Given the description of an element on the screen output the (x, y) to click on. 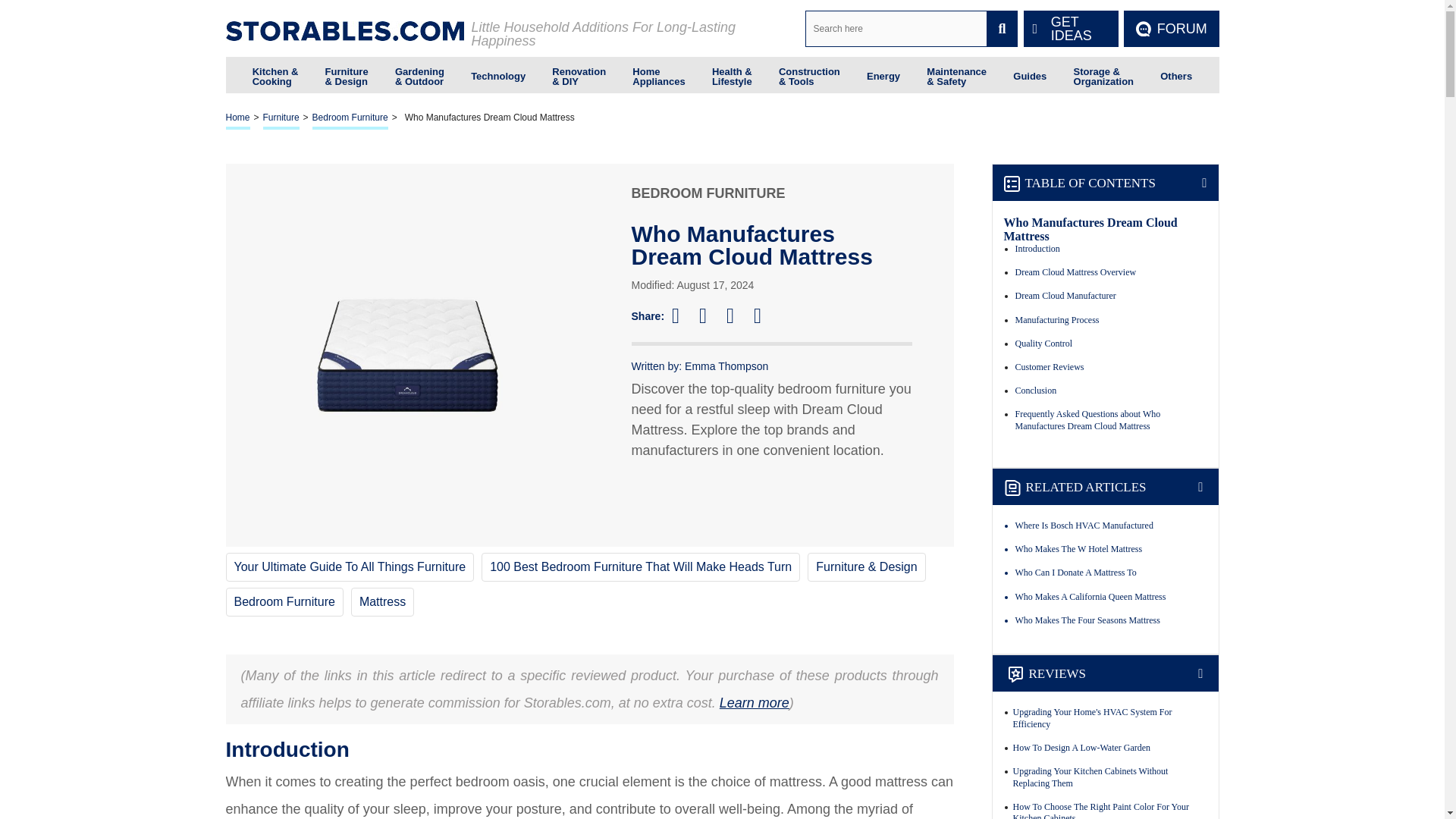
Technology (497, 74)
Share on Twitter (709, 315)
FORUM (1171, 28)
GET IDEAS (1070, 28)
Share on Facebook (682, 315)
Share on WhatsApp (764, 315)
Share on Pinterest (737, 315)
